Given the description of an element on the screen output the (x, y) to click on. 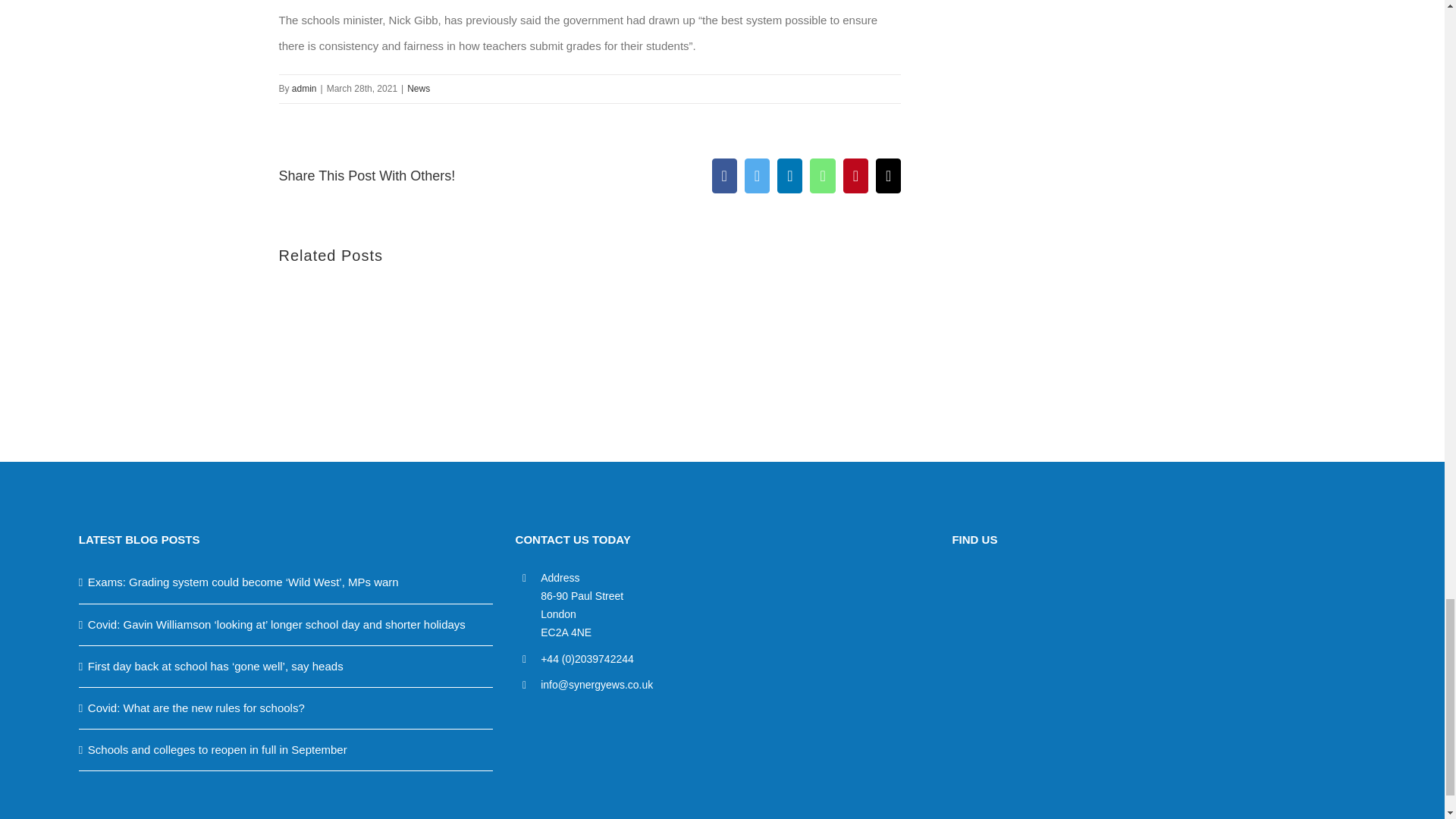
News (418, 88)
Posts by admin (304, 88)
admin (304, 88)
